Given the description of an element on the screen output the (x, y) to click on. 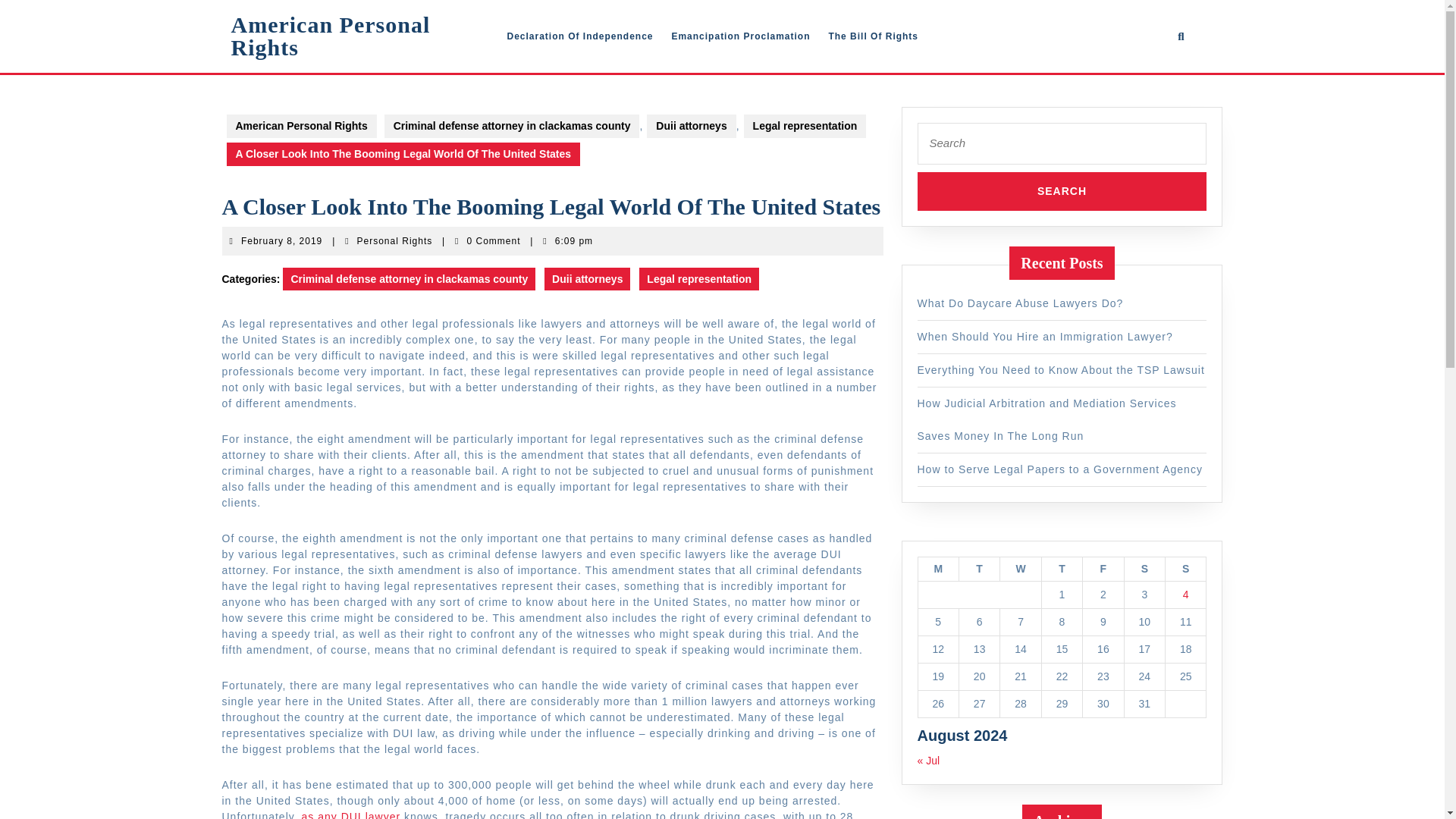
Monday (394, 240)
American Personal Rights (937, 568)
When Should You Hire an Immigration Lawyer? (329, 35)
Sunday (1045, 336)
as any DUI lawyer (1186, 568)
The Bill Of Rights (351, 814)
Criminal defense attorney in clackamas county (873, 36)
Clackamas county duii lawyer (408, 278)
